Given the description of an element on the screen output the (x, y) to click on. 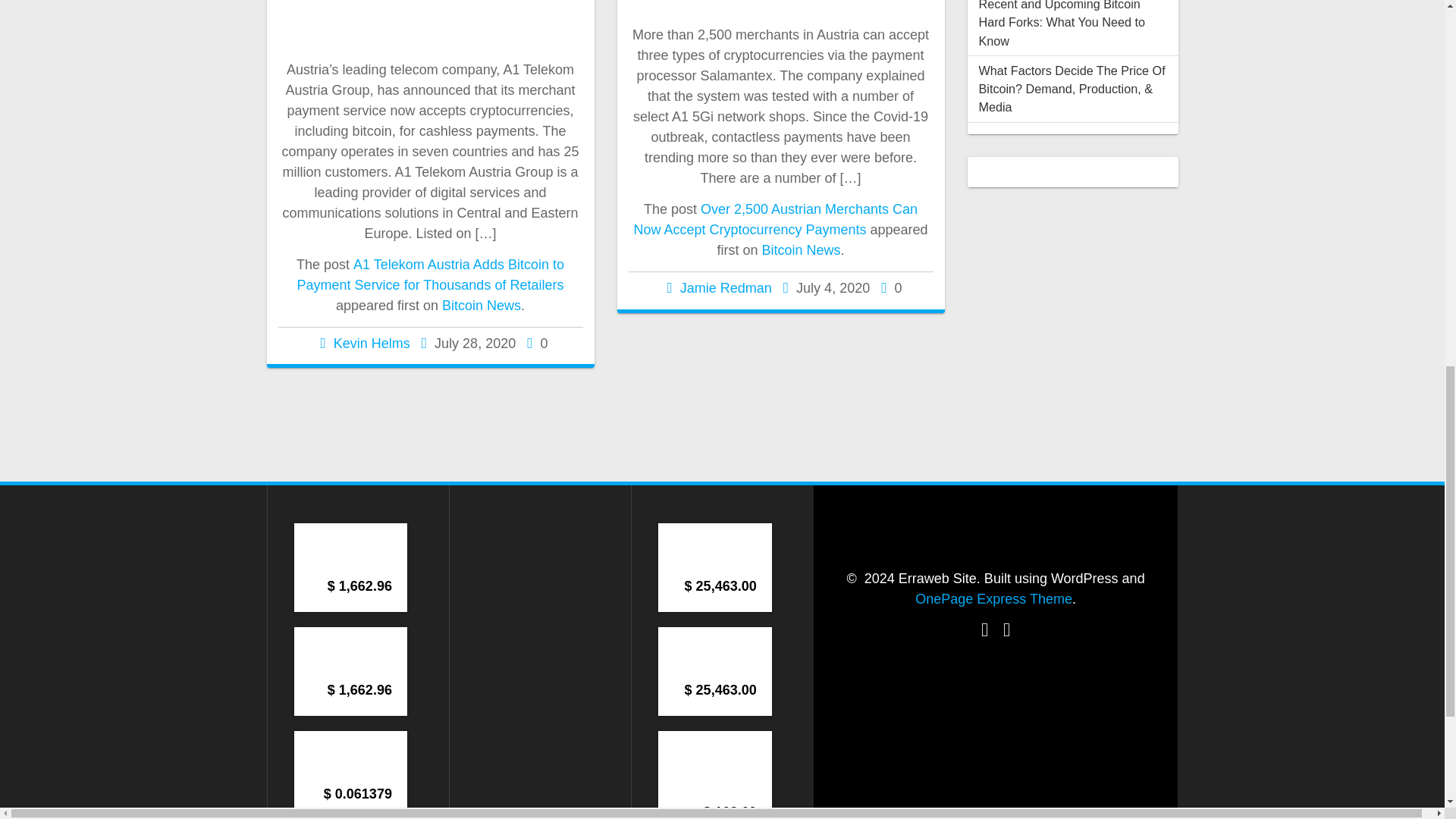
Posts by Kevin Helms (371, 343)
Posts by Jamie Redman (725, 287)
OnePage Express Theme (993, 598)
Bitcoin News (800, 249)
Kevin Helms (371, 343)
Bitcoin News (481, 305)
Jamie Redman (725, 287)
